Given the description of an element on the screen output the (x, y) to click on. 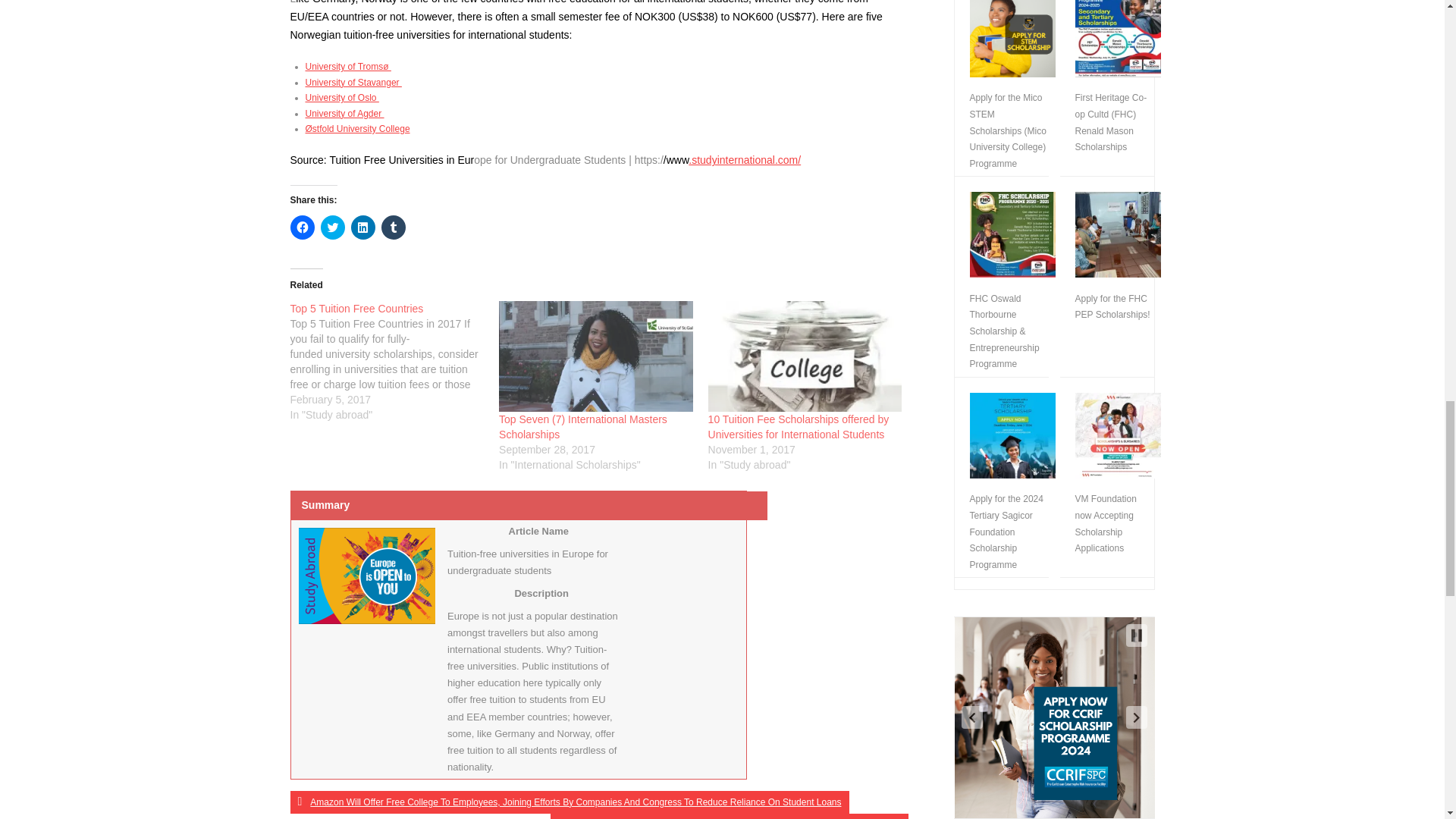
Top 5 Tuition Free Countries (394, 361)
Click to share on LinkedIn (362, 227)
Click to share on Tumblr (392, 227)
Top 5 Tuition Free Countries (356, 308)
Click to share on Facebook (301, 227)
Click to share on Twitter (331, 227)
